Given the description of an element on the screen output the (x, y) to click on. 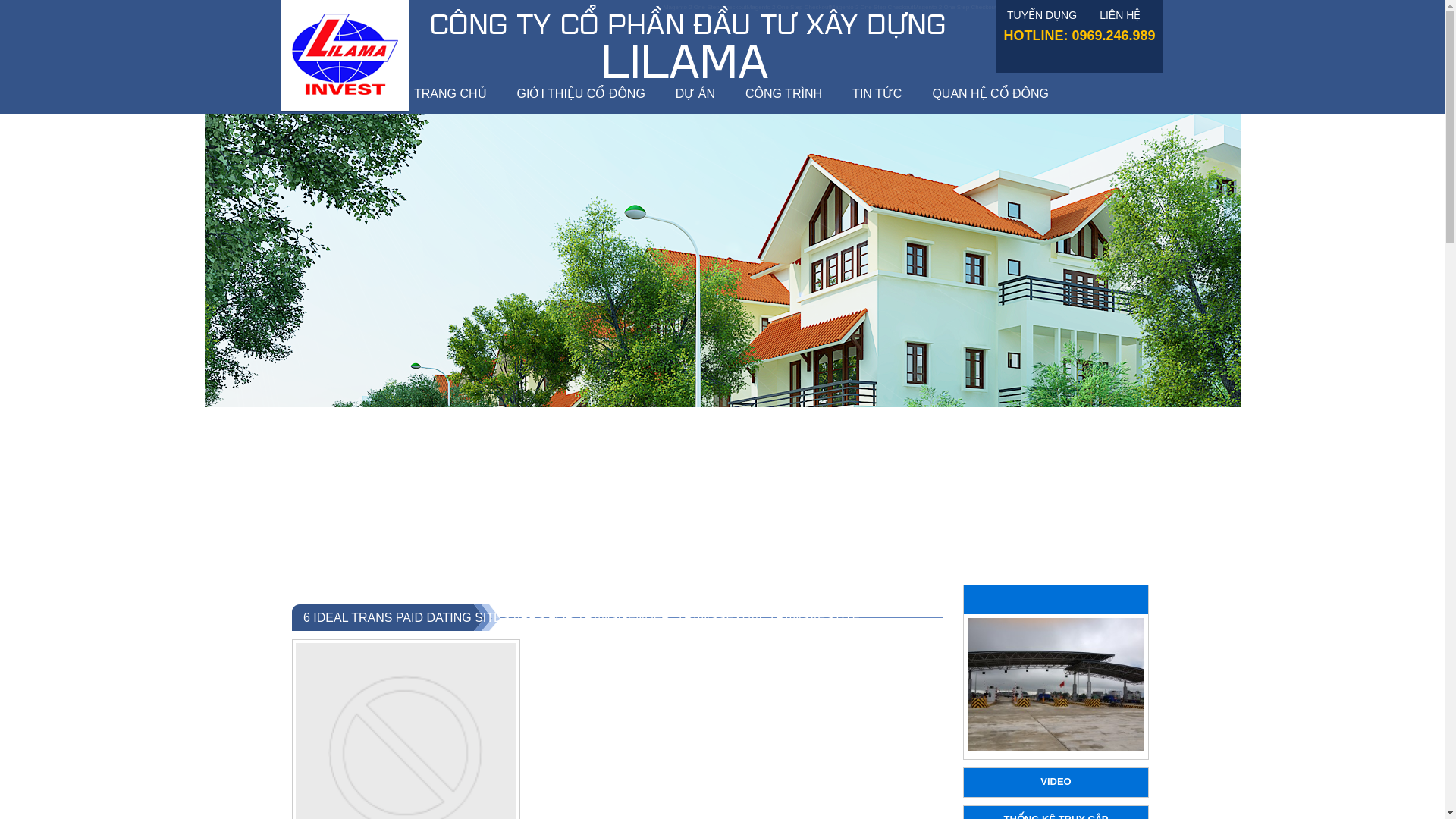
Magento 2 One Step Checkout (787, 7)
Magento 2 One Step Checkout (704, 7)
Magento 2 One Step Checkout (1121, 7)
Magento 2 One Step Checkout (953, 7)
Magento 2 One Step Checkout (1037, 7)
Magento 2 One Step Checkout (871, 7)
